Given the description of an element on the screen output the (x, y) to click on. 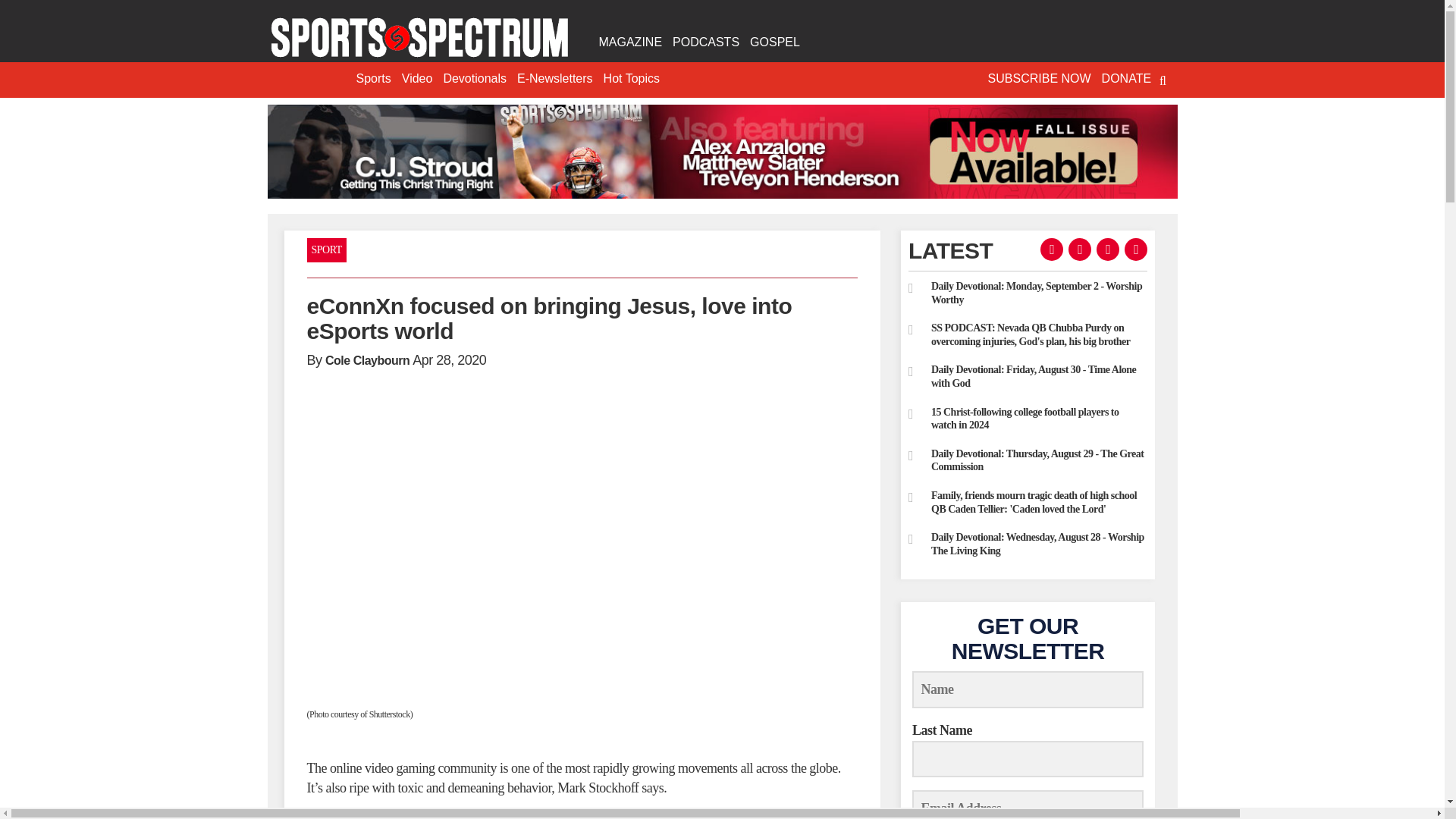
MAGAZINE (629, 42)
Sports (373, 78)
Cole Claybourn (366, 359)
Hot Topics (631, 78)
Devotionals (475, 78)
E-Newsletters (555, 78)
PODCASTS (705, 42)
Sports Spectrum (418, 37)
GOSPEL (774, 42)
SPORT (325, 250)
